Given the description of an element on the screen output the (x, y) to click on. 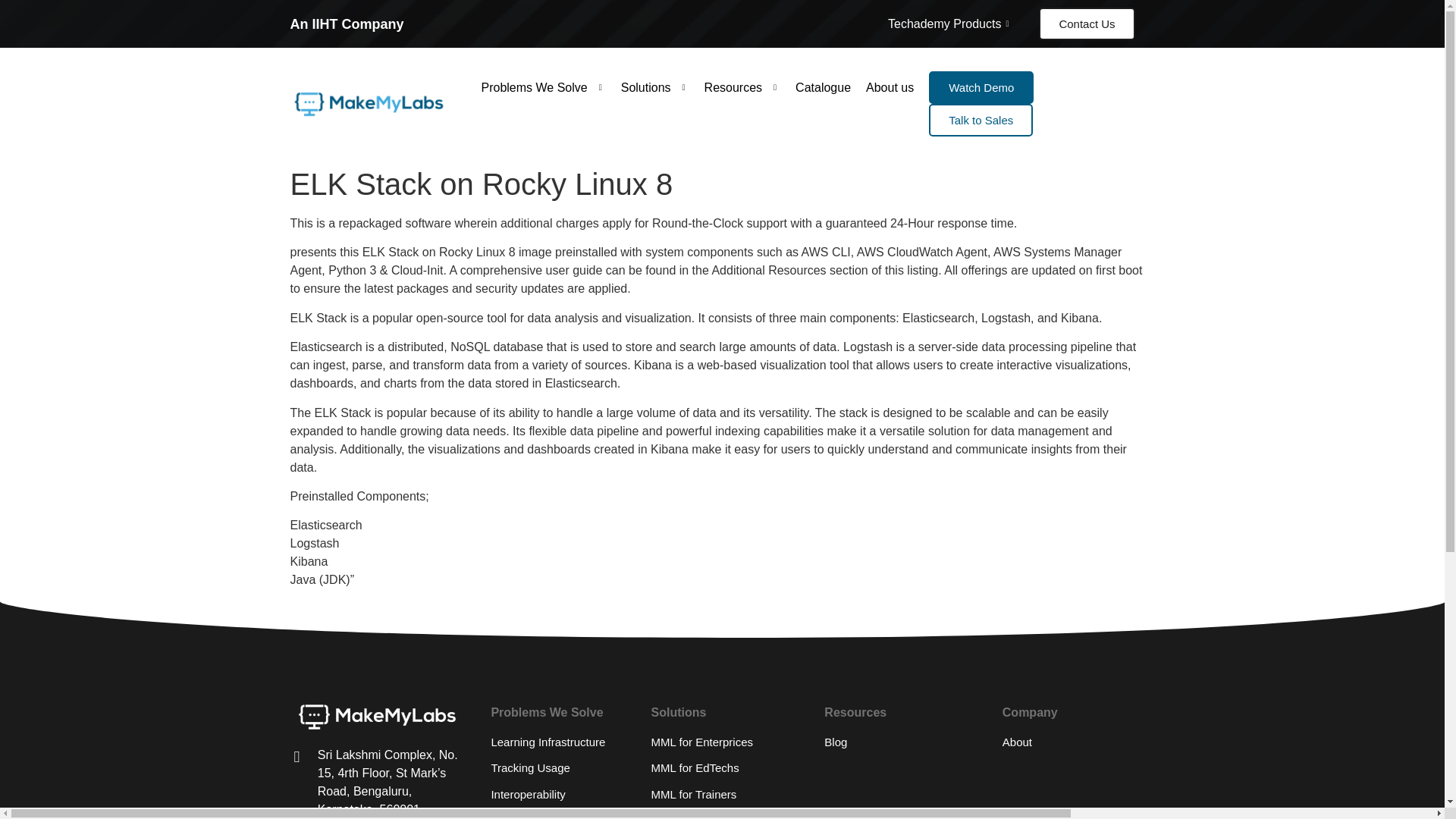
Solutions (654, 87)
Techademy Products (949, 23)
Resources (743, 87)
Problems We Solve (542, 87)
Contact Us (1086, 23)
